Given the description of an element on the screen output the (x, y) to click on. 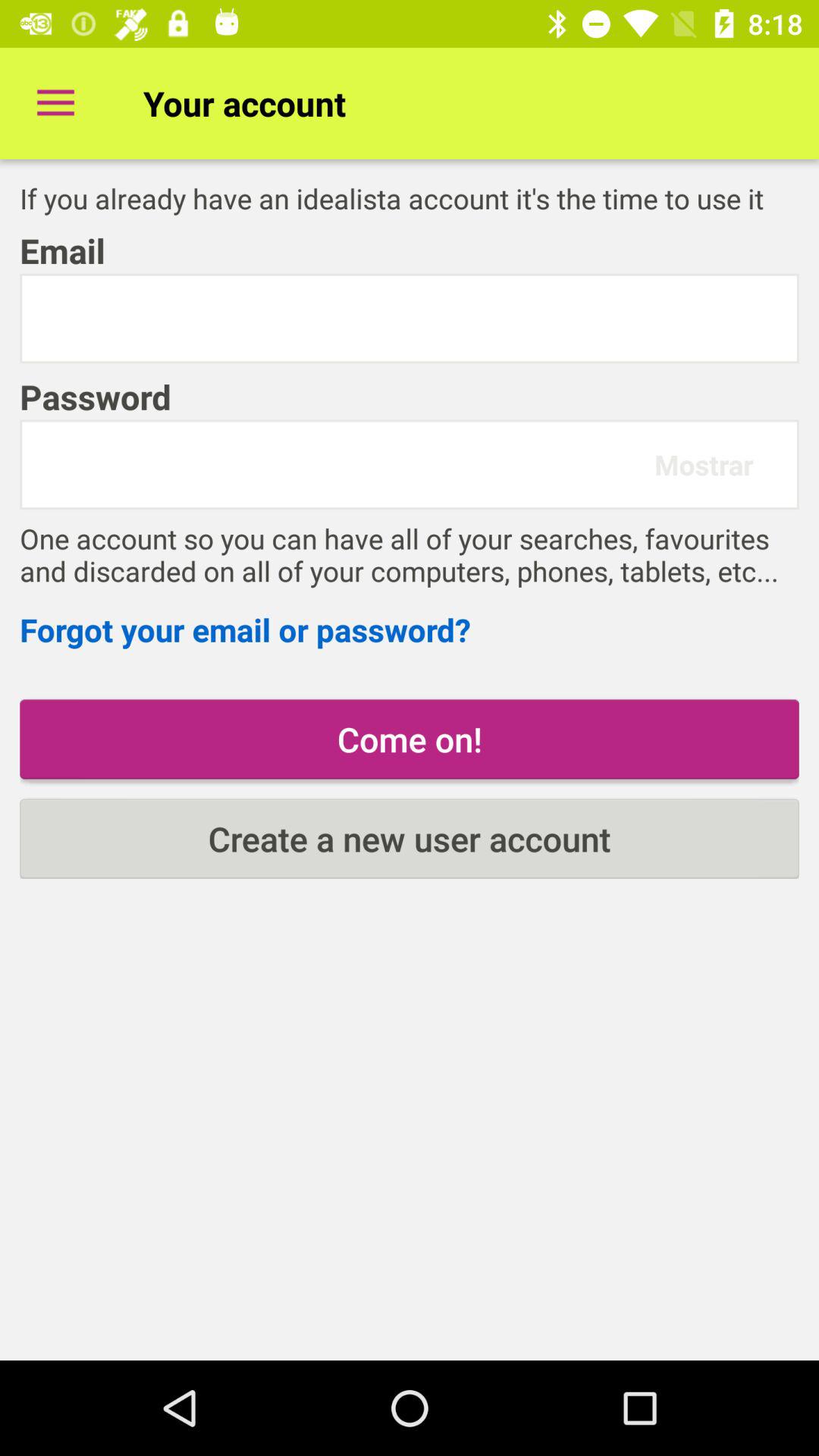
click create a new item (409, 838)
